Given the description of an element on the screen output the (x, y) to click on. 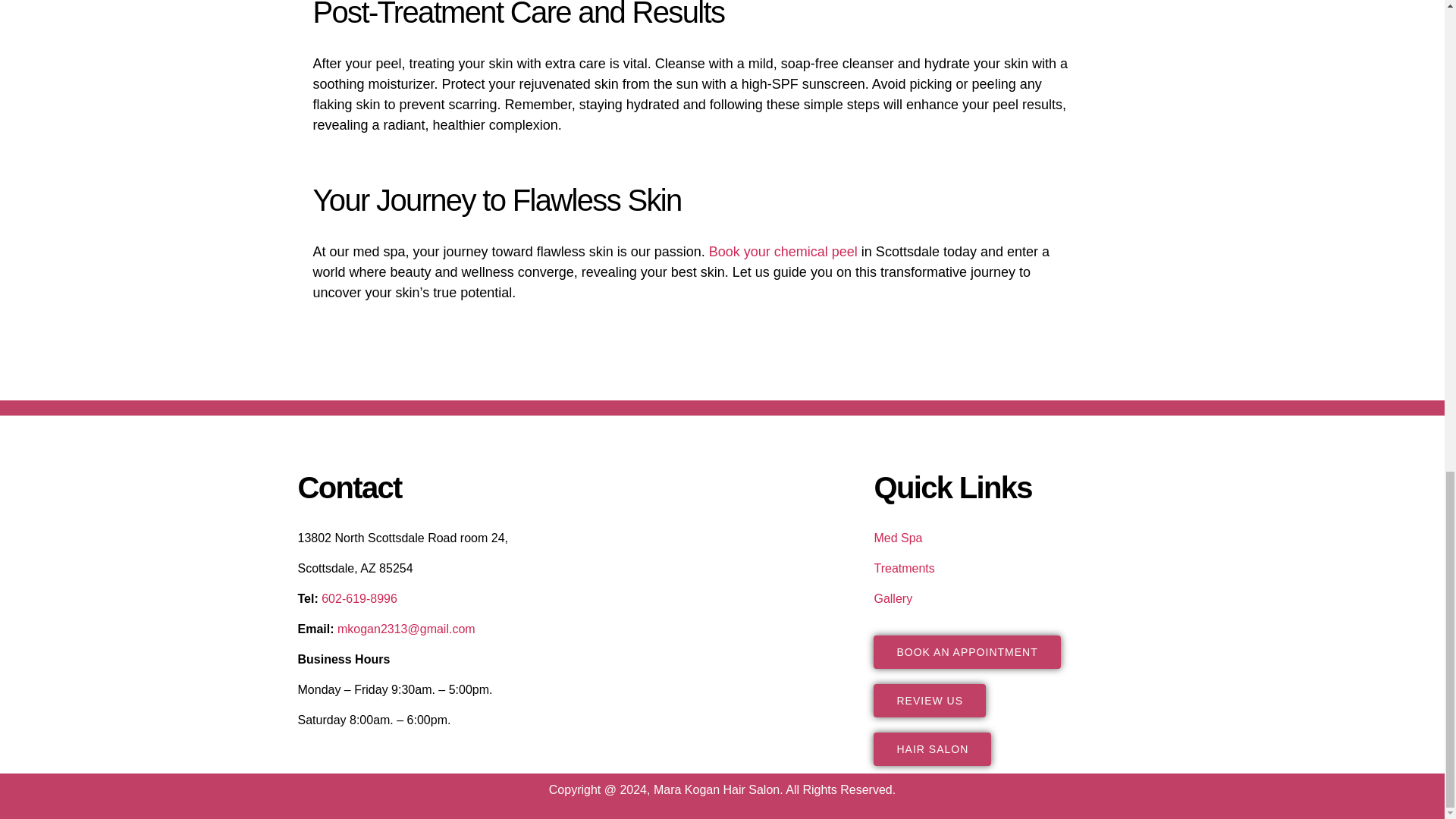
602-619-8996 (359, 598)
Gallery (892, 598)
Med Spa (897, 537)
HAIR SALON (932, 748)
REVIEW US (929, 700)
Book your chemical peel (783, 251)
BOOK AN APPOINTMENT (966, 652)
Treatments (903, 567)
